Given the description of an element on the screen output the (x, y) to click on. 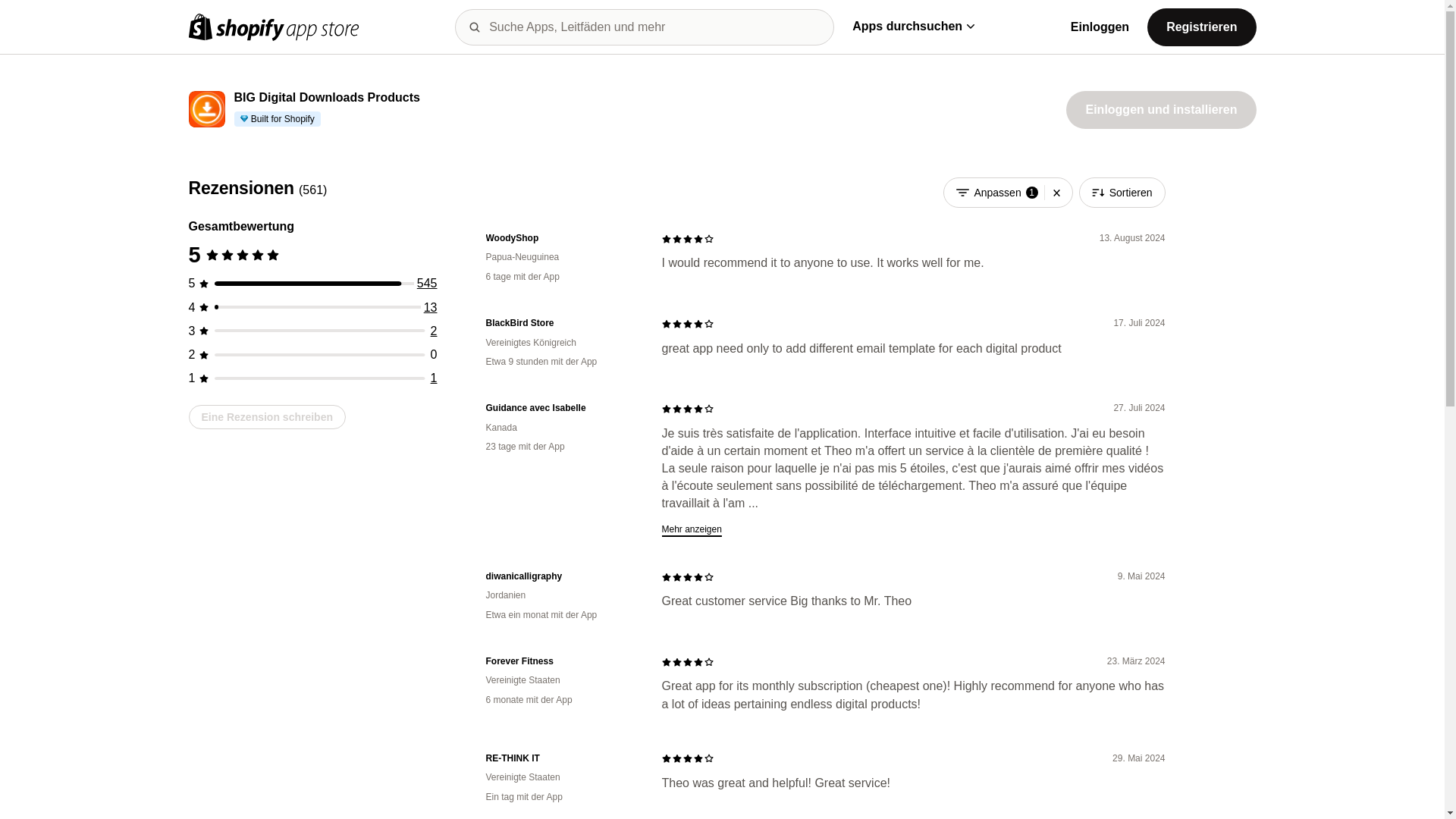
Forever Fitness (560, 661)
Einloggen und installieren (1160, 109)
Built for Shopify (276, 117)
WoodyShop (560, 237)
BIG Digital Downloads Products (325, 97)
Registrieren (1201, 26)
Apps durchsuchen (912, 26)
13 (430, 307)
diwanicalligraphy (560, 576)
RE-THINK IT (560, 758)
